Given the description of an element on the screen output the (x, y) to click on. 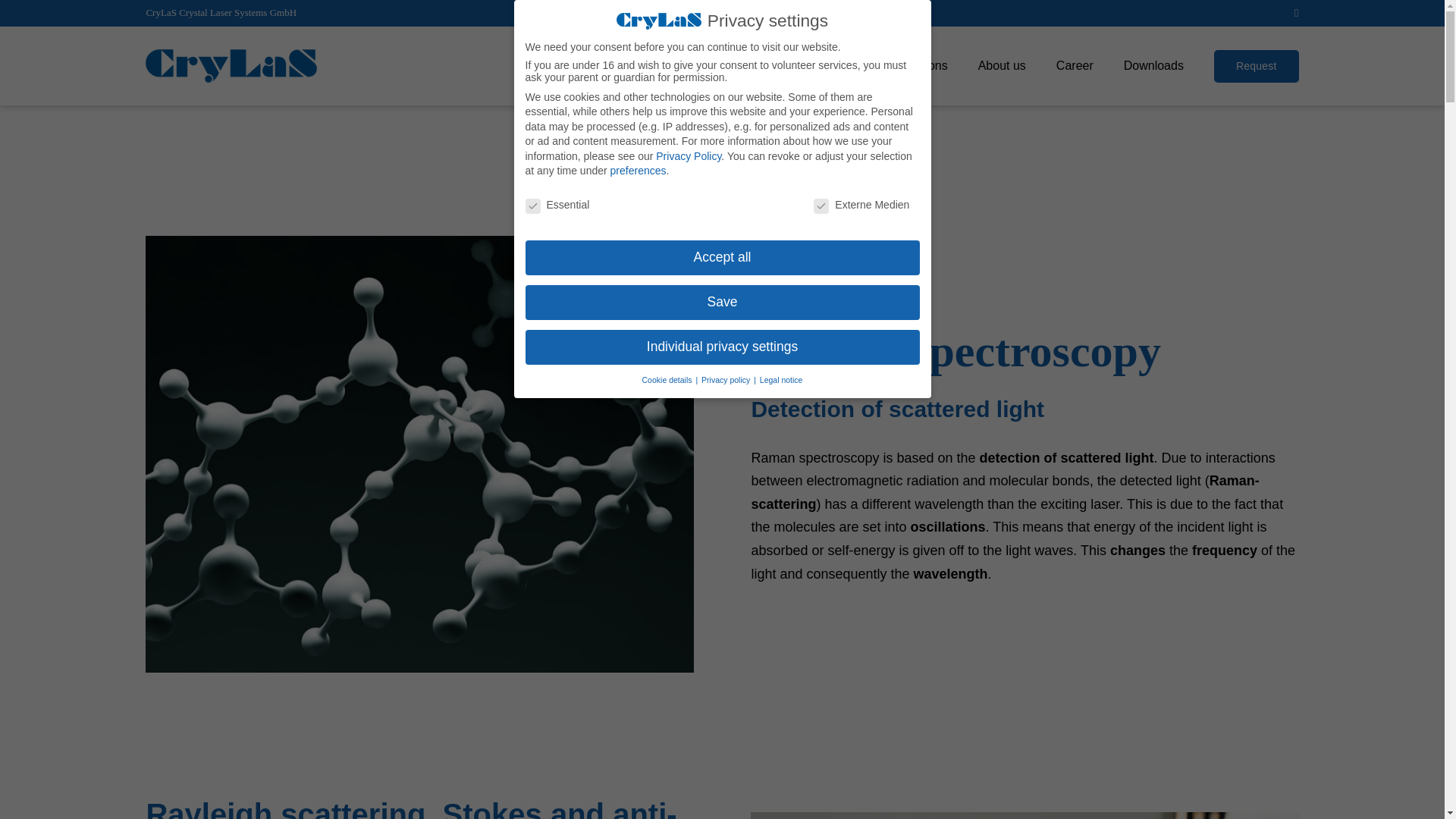
Detektion von Streustrahlung (1024, 815)
Products (822, 65)
Downloads (1153, 65)
Request (1256, 65)
Applications (914, 65)
About us (1002, 65)
Products (822, 65)
